Given the description of an element on the screen output the (x, y) to click on. 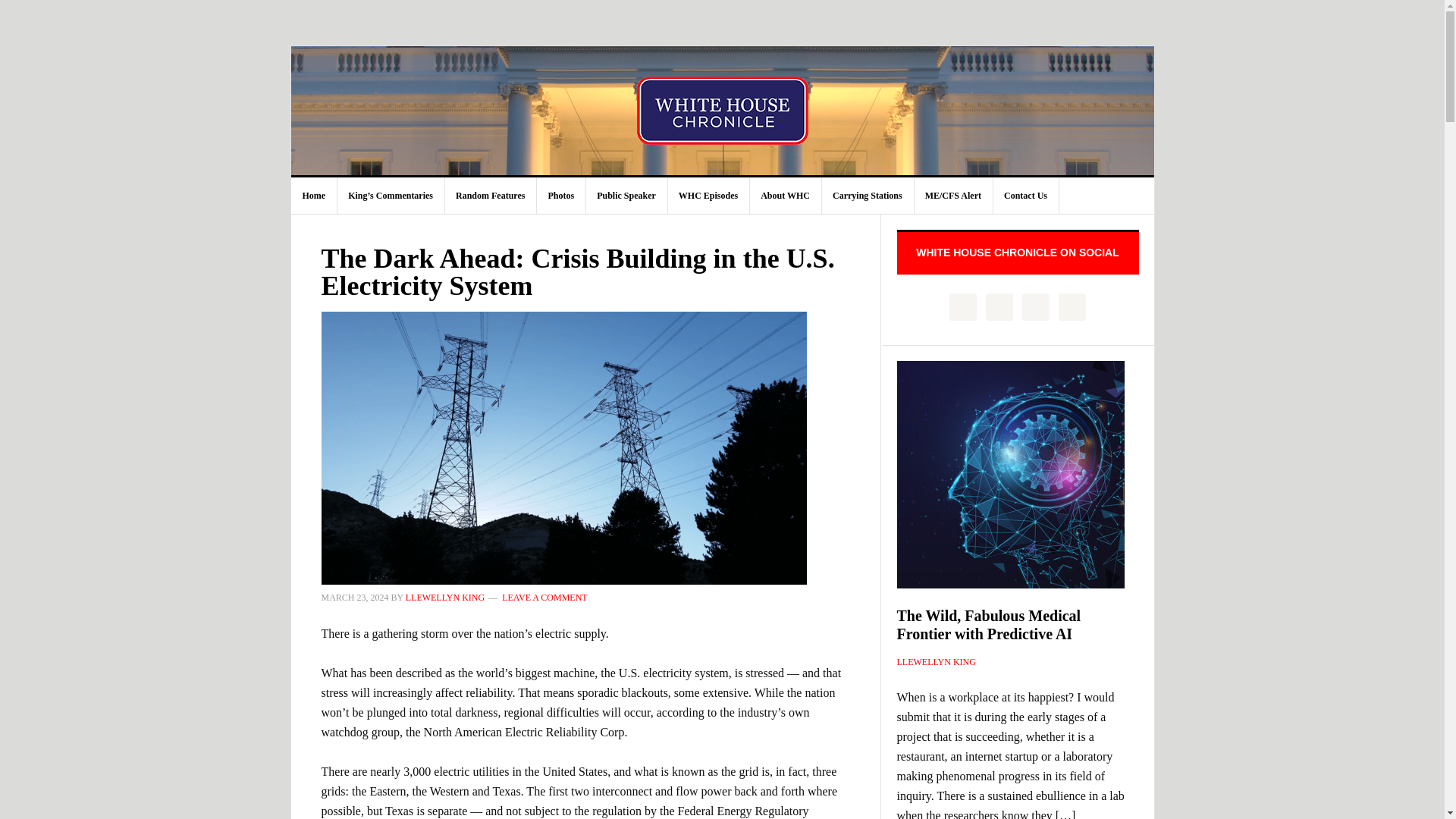
Home (314, 195)
About WHC (785, 195)
Carrying Stations (867, 195)
Random Features (490, 195)
LLEWELLYN KING (445, 597)
WHITE HOUSE CHRONICLE (722, 110)
Photos (560, 195)
WHC Episodes (707, 195)
LEAVE A COMMENT (544, 597)
Public Speaker (626, 195)
Contact Us (1025, 195)
